Given the description of an element on the screen output the (x, y) to click on. 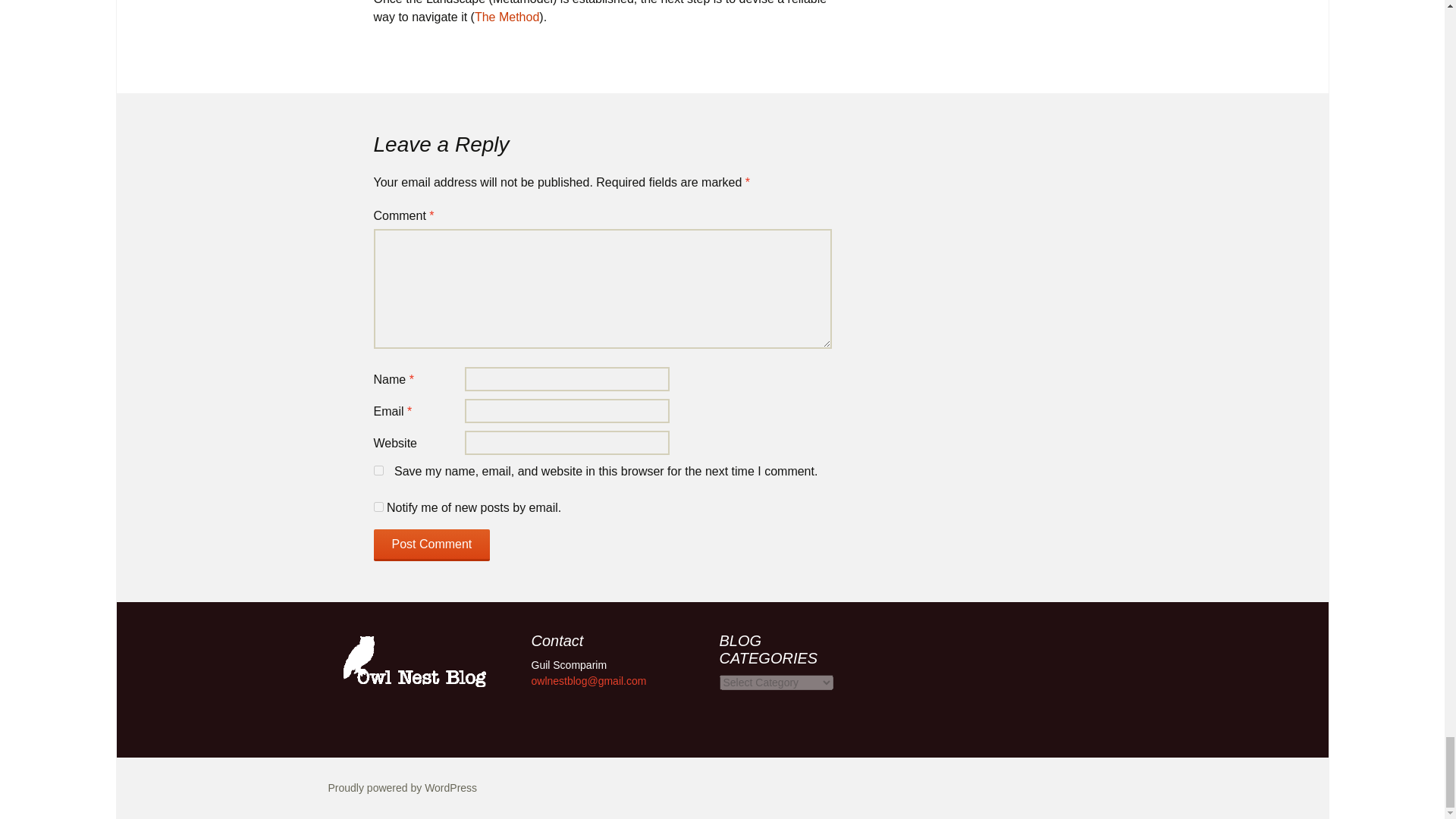
The Method (506, 16)
Post Comment (430, 545)
Post Comment (430, 545)
yes (377, 470)
The Method (506, 16)
subscribe (377, 506)
